Given the description of an element on the screen output the (x, y) to click on. 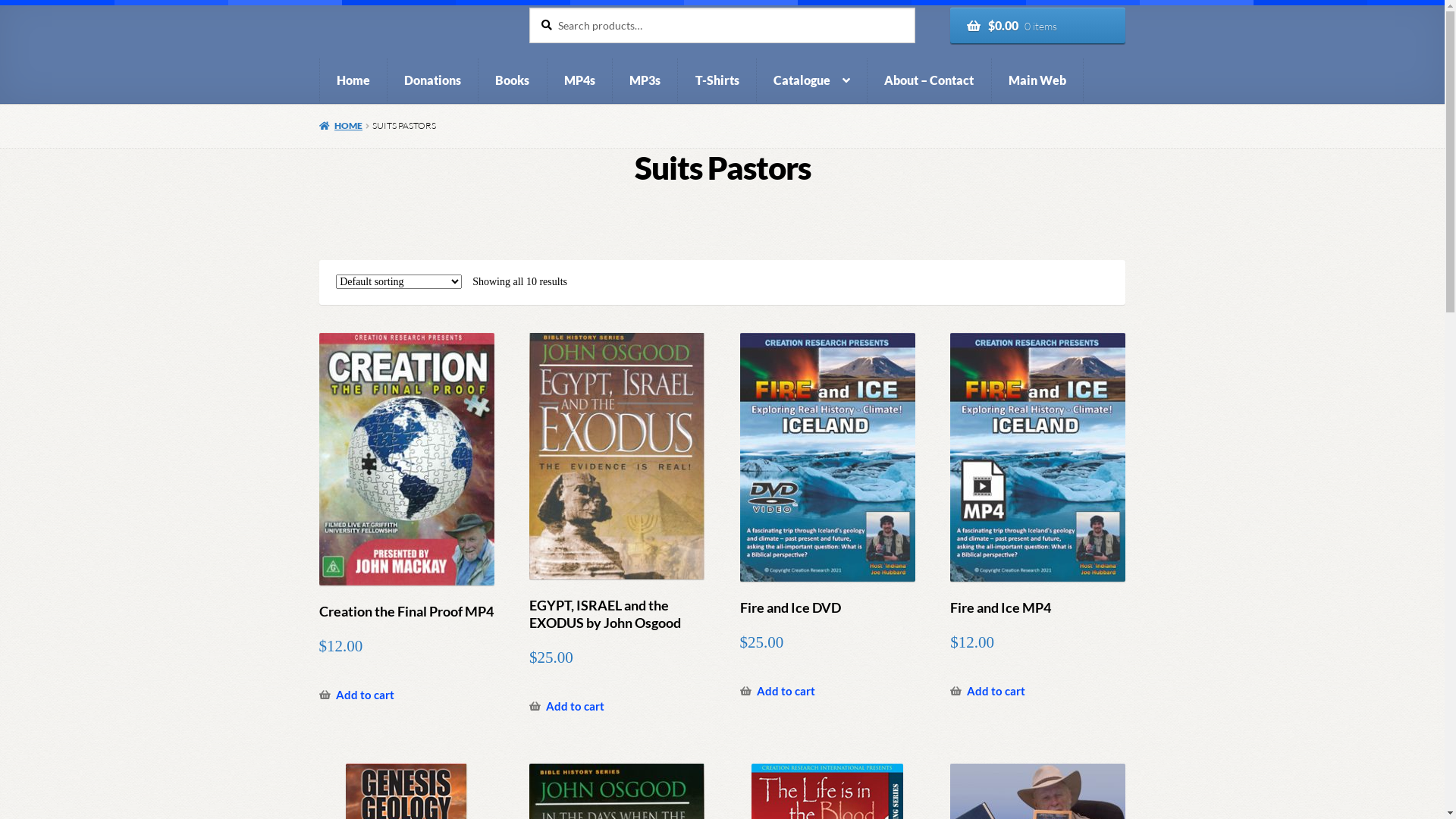
Fire and Ice DVD
$25.00 Element type: text (827, 493)
Donations Element type: text (432, 80)
EGYPT, ISRAEL and the EXODUS by John Osgood
$25.00 Element type: text (616, 501)
Skip to navigation Element type: text (318, 6)
Add to cart Element type: text (566, 705)
HOME Element type: text (340, 125)
Catalogue Element type: text (811, 80)
Search Element type: text (528, 6)
Home Element type: text (353, 80)
Creation the Final Proof MP4
$12.00 Element type: text (406, 495)
Add to cart Element type: text (356, 694)
MP3s Element type: text (644, 80)
$0.00 0 items Element type: text (1037, 25)
Books Element type: text (512, 80)
Main Web Element type: text (1037, 80)
Add to cart Element type: text (777, 690)
T-Shirts Element type: text (716, 80)
MP4s Element type: text (579, 80)
Fire and Ice MP4
$12.00 Element type: text (1037, 493)
Add to cart Element type: text (987, 690)
